Given the description of an element on the screen output the (x, y) to click on. 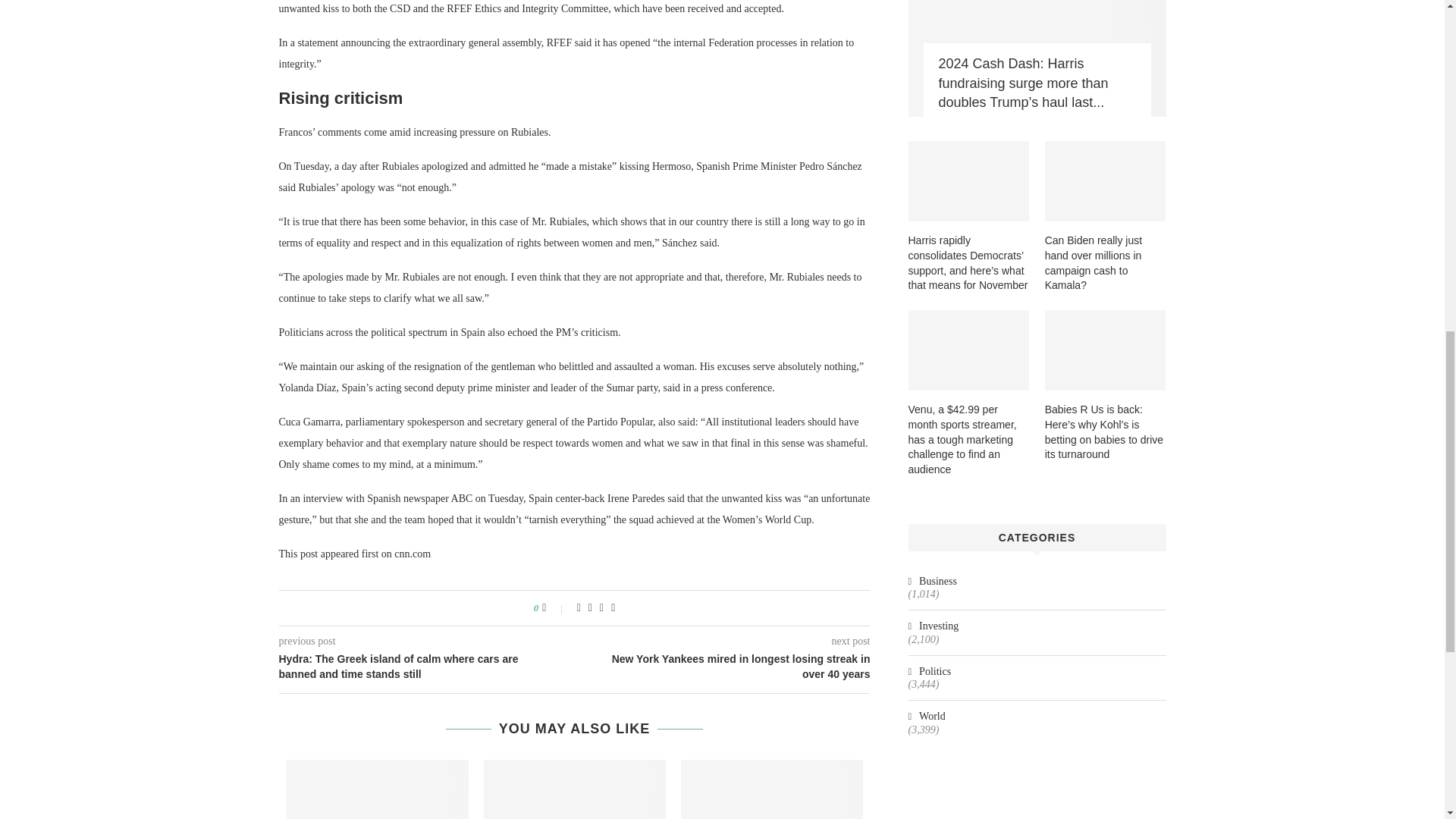
Like (553, 607)
Dachshunds under threat as Germany proposes ban on breeding (772, 789)
